Given the description of an element on the screen output the (x, y) to click on. 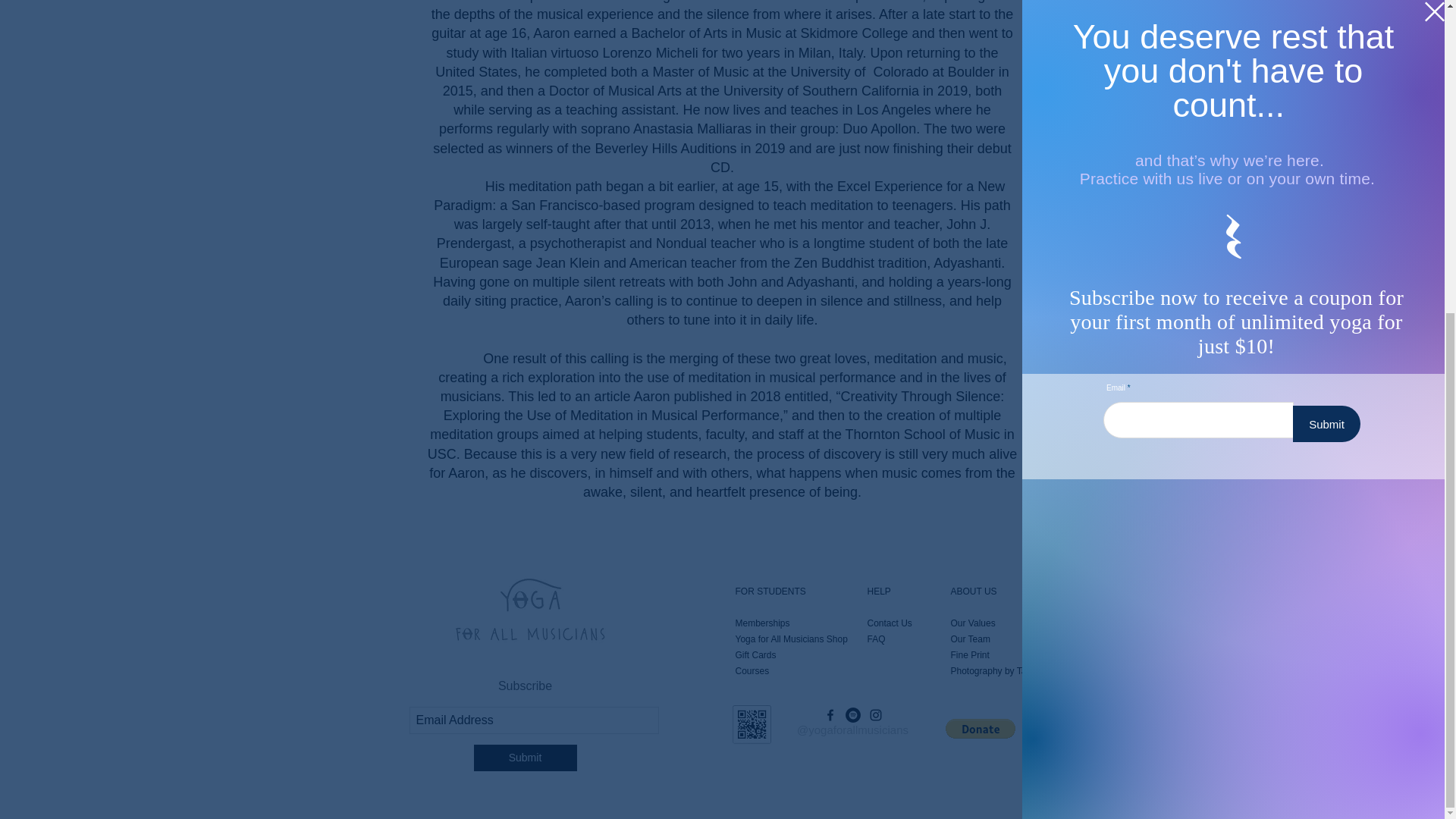
Gift Cards (755, 655)
Contact Us (889, 623)
3.png (751, 724)
Memberships (762, 623)
Courses (752, 670)
Yoga for All Musicians Shop (791, 638)
Submit (524, 757)
